Given the description of an element on the screen output the (x, y) to click on. 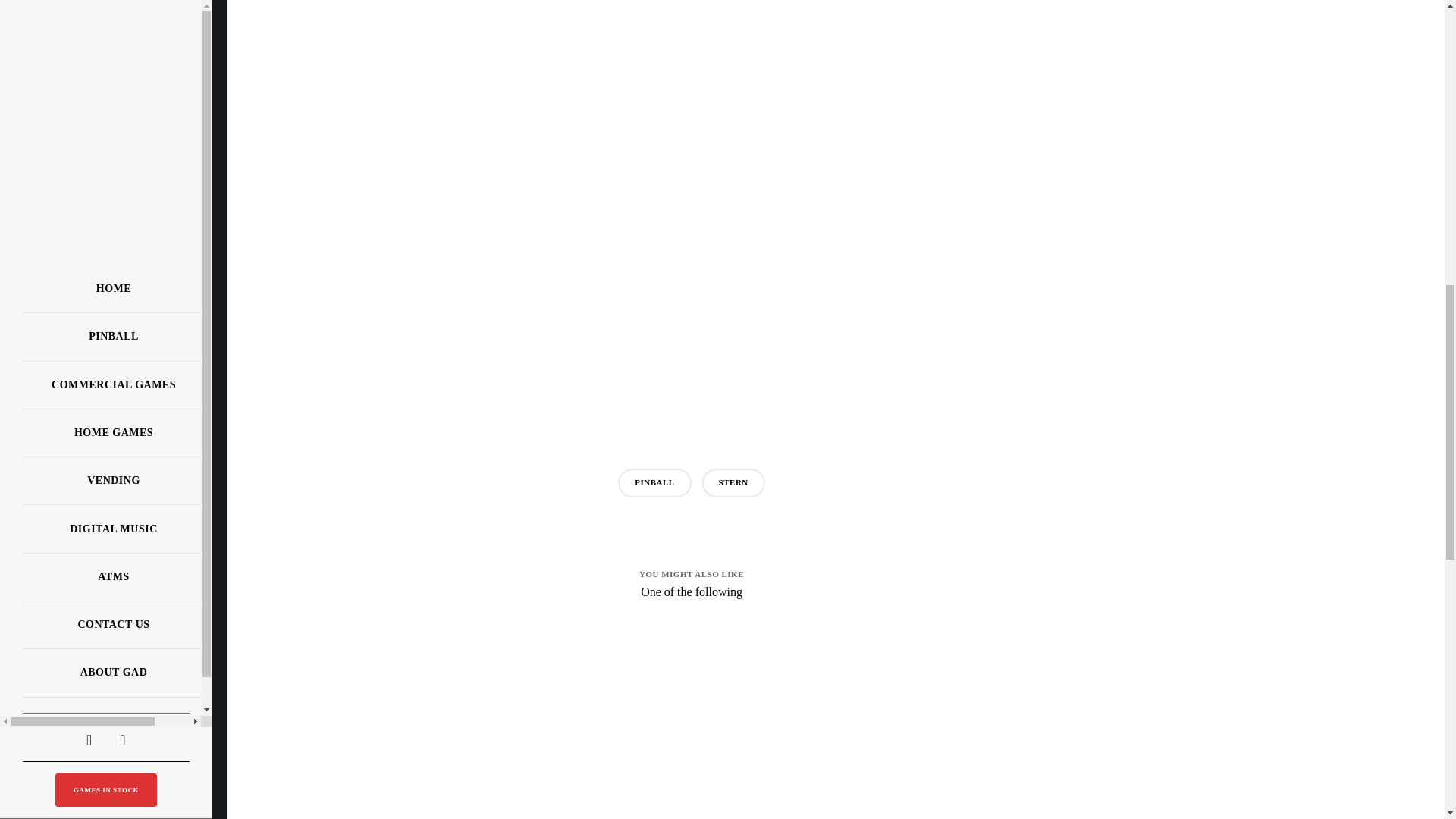
PINBALL (653, 482)
STERN (733, 482)
